Given the description of an element on the screen output the (x, y) to click on. 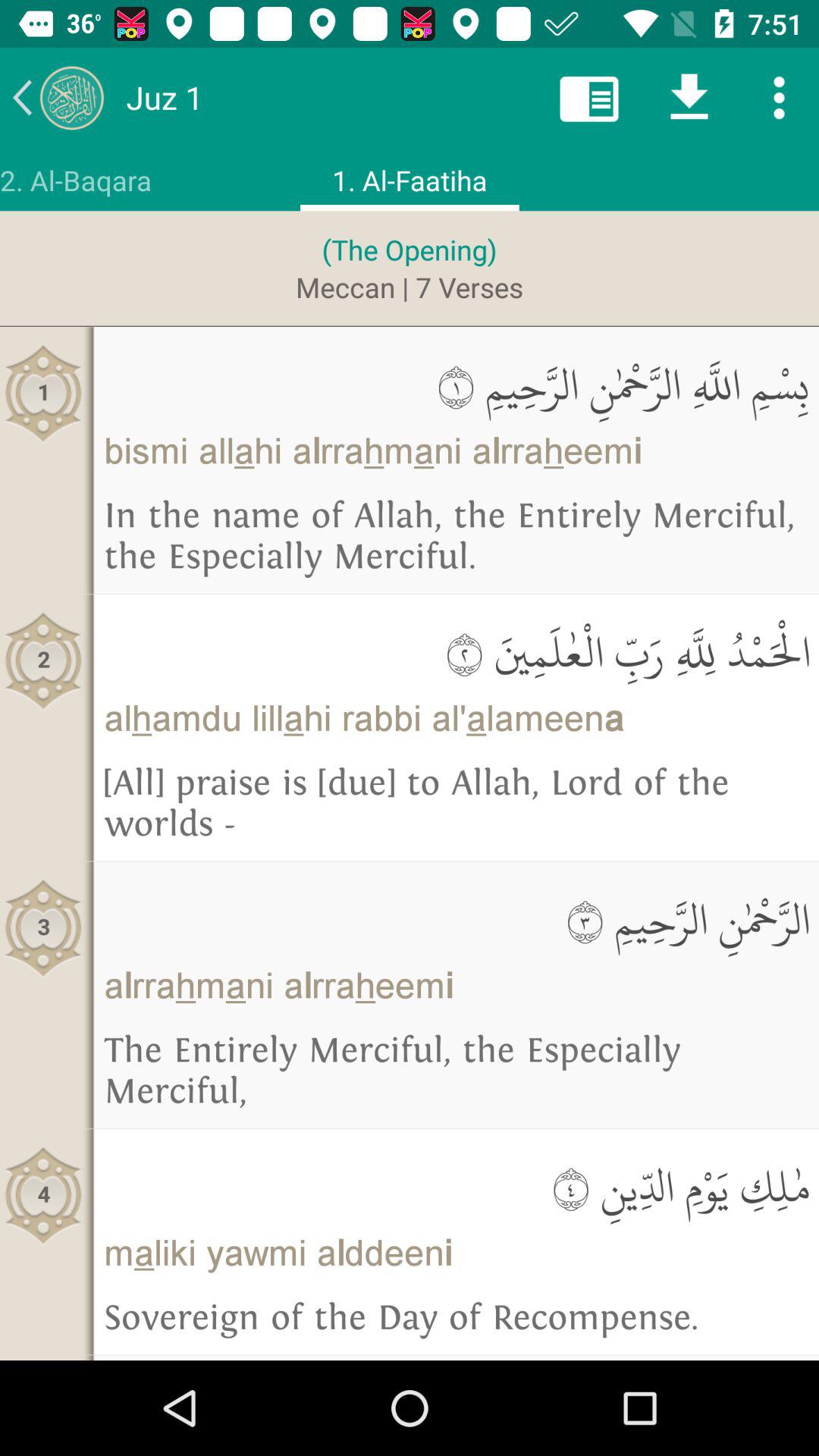
turn on icon next to 2 icon (456, 652)
